Given the description of an element on the screen output the (x, y) to click on. 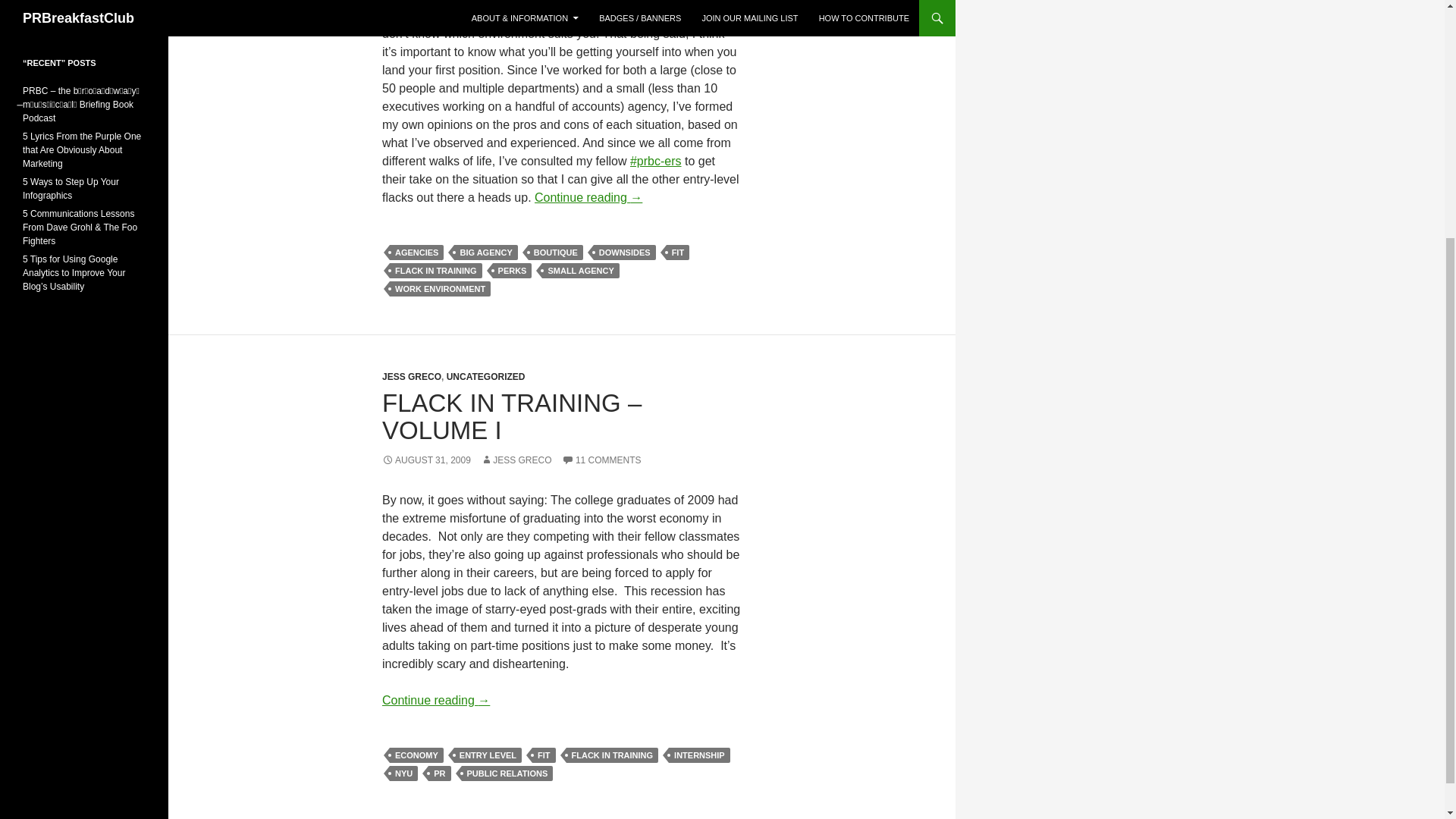
JESS GRECO (515, 460)
11 COMMENTS (602, 460)
FIT (678, 252)
JESS GRECO (411, 376)
SMALL AGENCY (579, 270)
WORK ENVIRONMENT (440, 288)
AUGUST 31, 2009 (425, 460)
ECONOMY (417, 754)
DOWNSIDES (625, 252)
ENTRY LEVEL (487, 754)
